Given the description of an element on the screen output the (x, y) to click on. 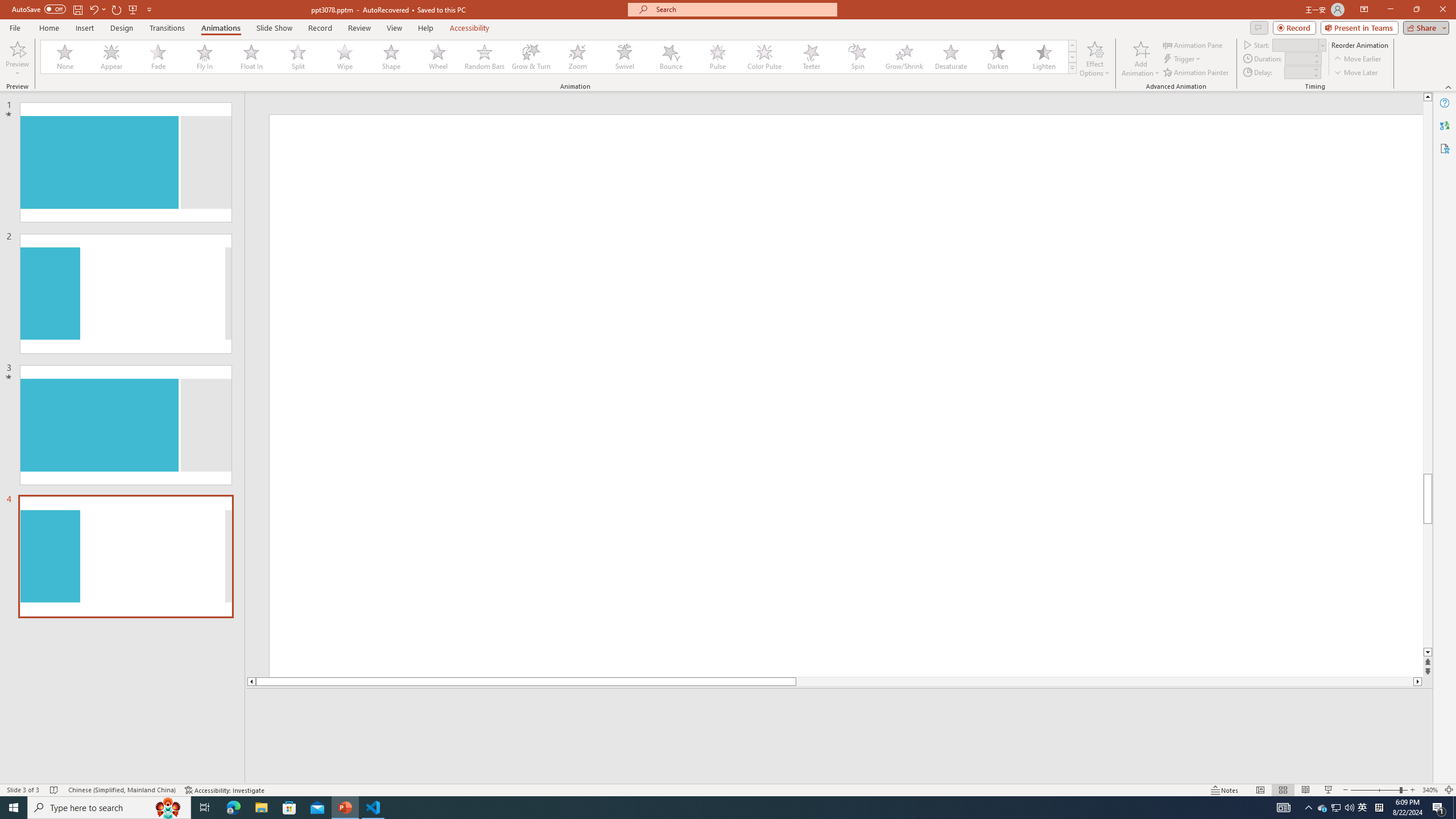
Add Animation (1141, 58)
None (65, 56)
Darken (997, 56)
Wheel (437, 56)
Animation Duration (1298, 58)
Random Bars (484, 56)
Zoom 340% (1430, 790)
